Given the description of an element on the screen output the (x, y) to click on. 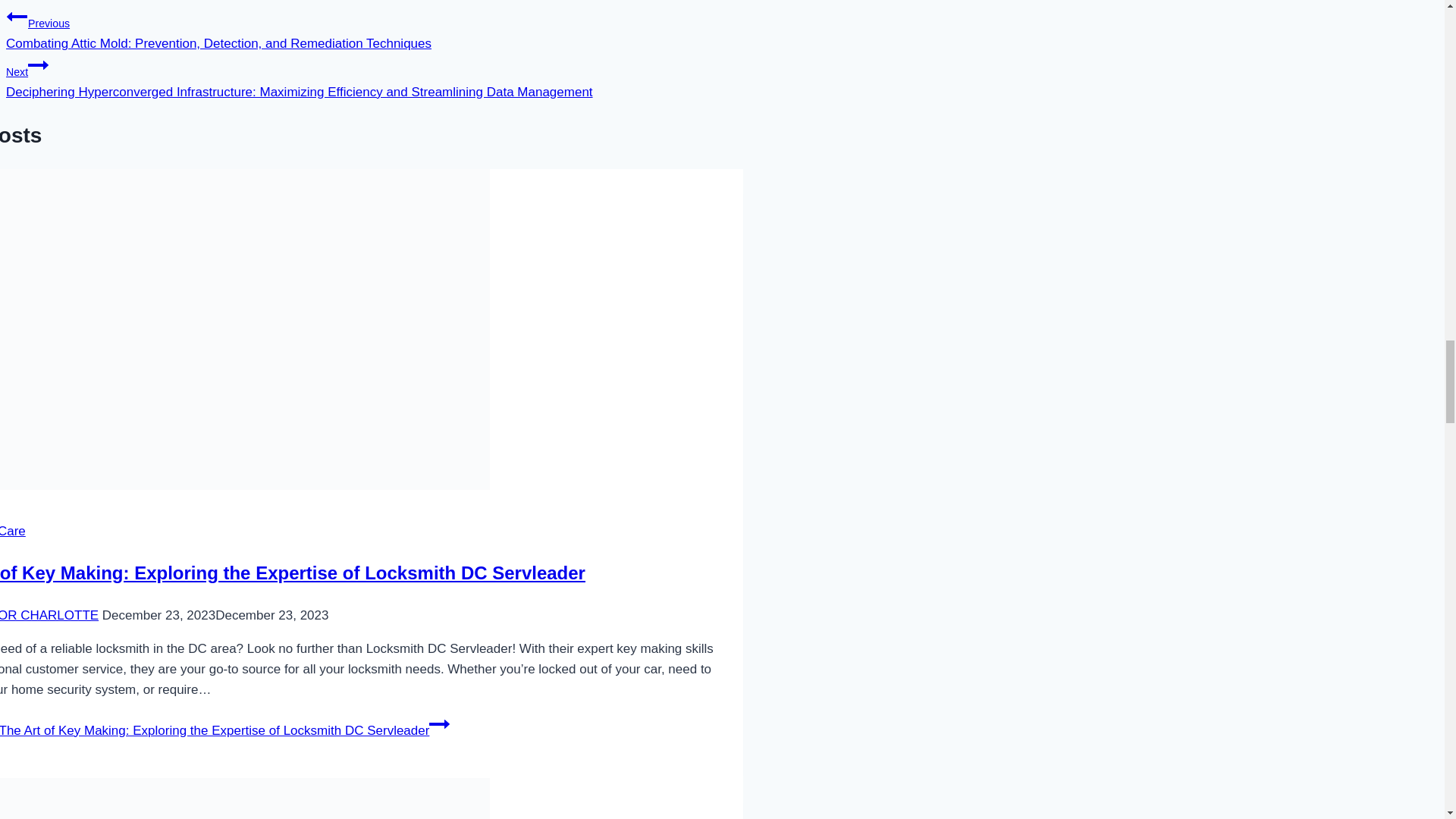
ELEAANOR CHARLOTTE (49, 615)
Safety And Care (13, 531)
Continue (37, 65)
Previous (16, 16)
Continue (439, 722)
